Given the description of an element on the screen output the (x, y) to click on. 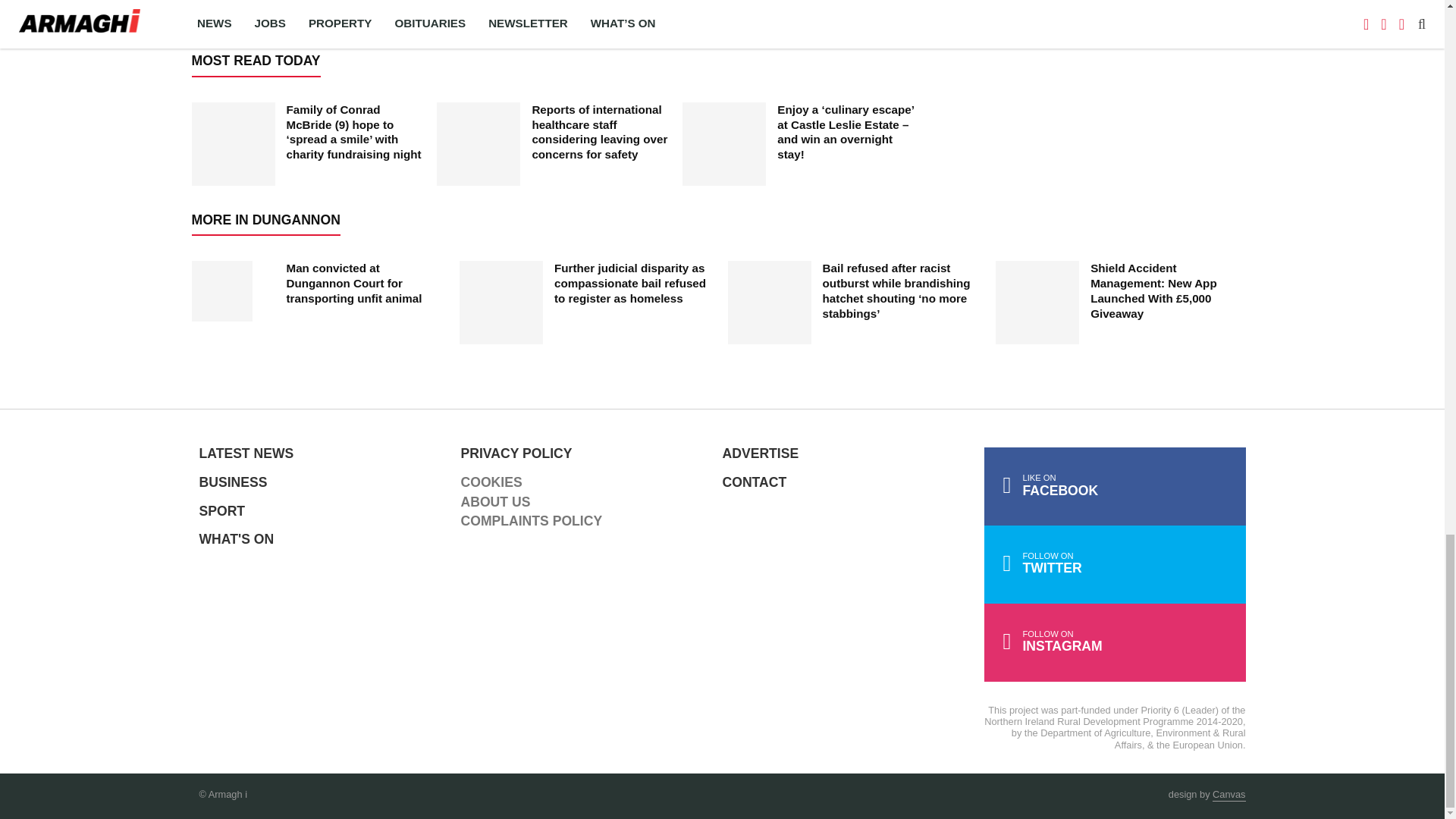
Instagram (1115, 642)
Twitter (1115, 564)
Facebook (1115, 486)
